Given the description of an element on the screen output the (x, y) to click on. 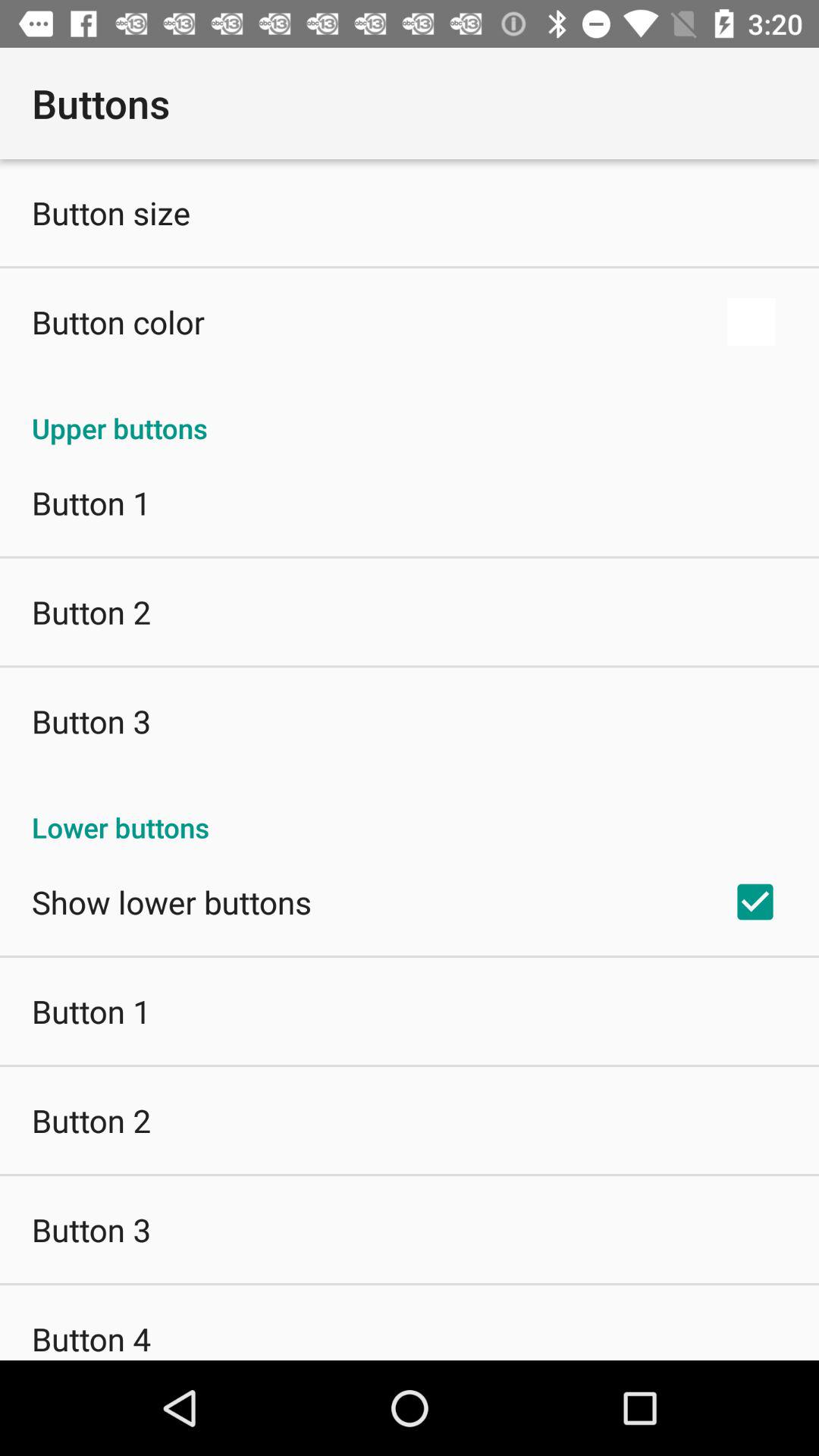
launch the icon next to the show lower buttons app (755, 901)
